Given the description of an element on the screen output the (x, y) to click on. 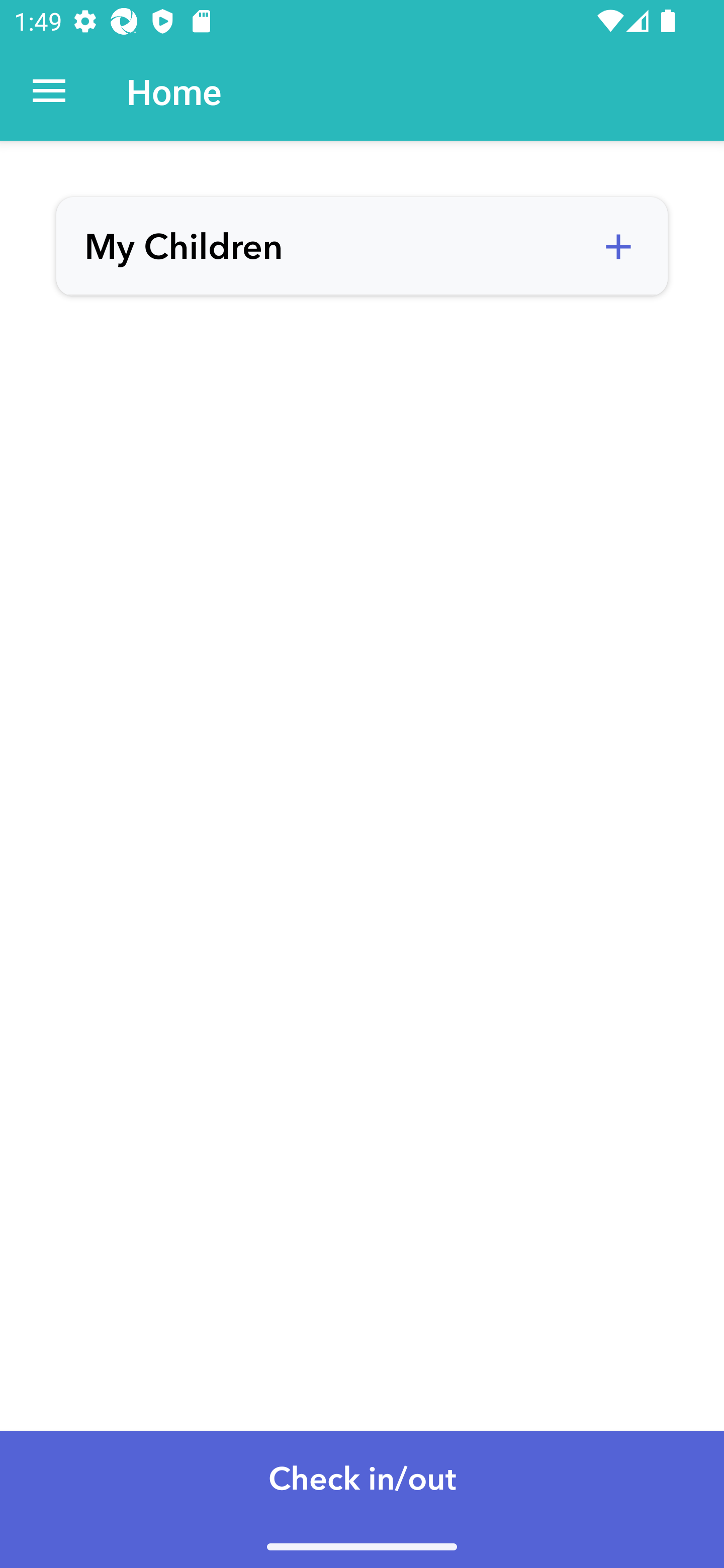
Open navigation drawer (49, 91)
Add a Child (618, 246)
Check in/out (362, 1499)
